Given the description of an element on the screen output the (x, y) to click on. 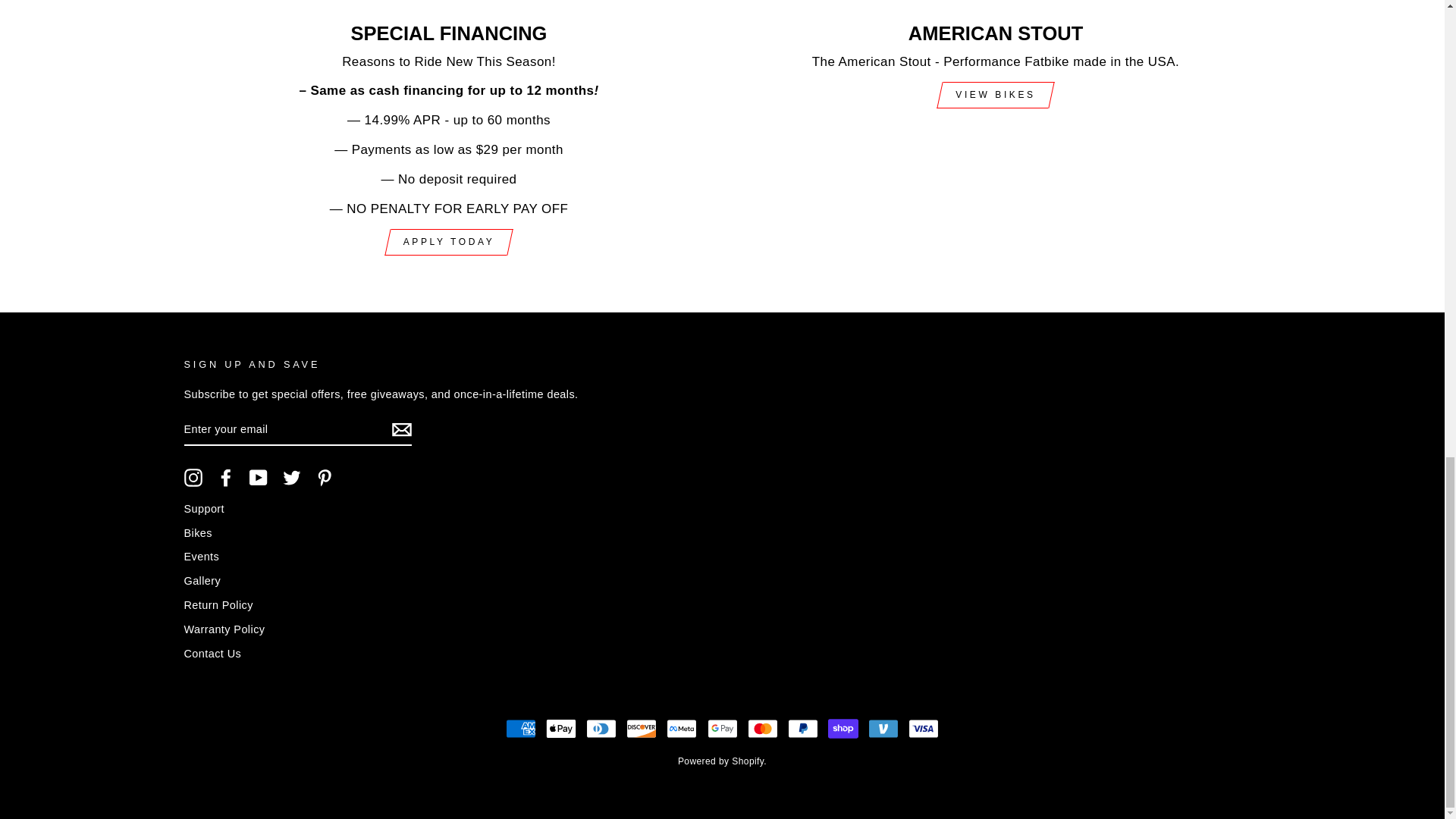
Diners Club (600, 728)
Apple Pay (561, 728)
Google Pay (721, 728)
Mastercard (762, 728)
Growler Bikes on Facebook (225, 477)
Growler Bikes on Pinterest (324, 477)
Discover (641, 728)
Growler Bikes on YouTube (257, 477)
American Express (520, 728)
Growler Bikes on Twitter (291, 477)
Growler Bikes on Instagram (192, 477)
Meta Pay (681, 728)
